Given the description of an element on the screen output the (x, y) to click on. 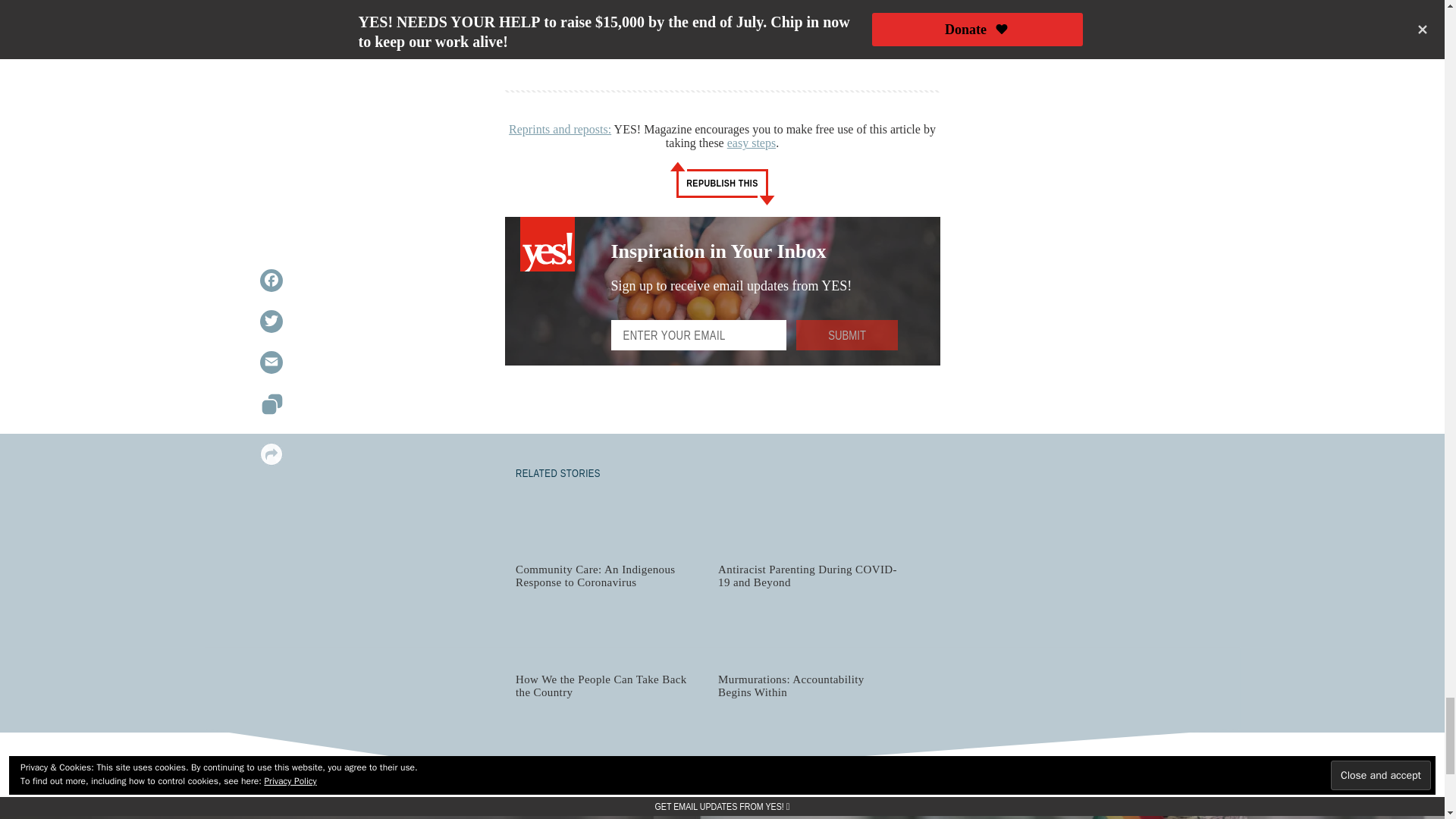
Submit (847, 335)
